Given the description of an element on the screen output the (x, y) to click on. 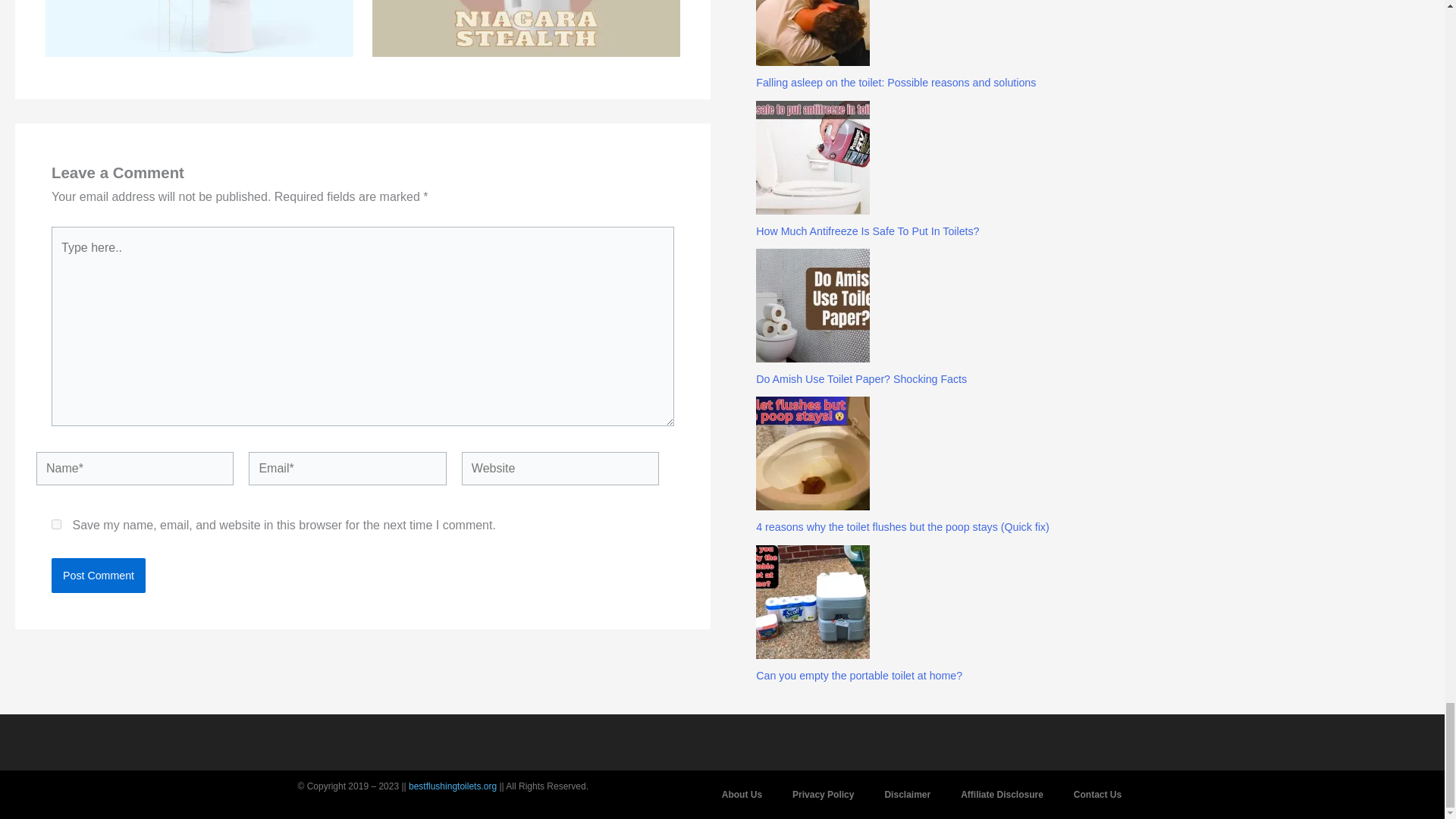
Post Comment (97, 574)
yes (55, 524)
